Given the description of an element on the screen output the (x, y) to click on. 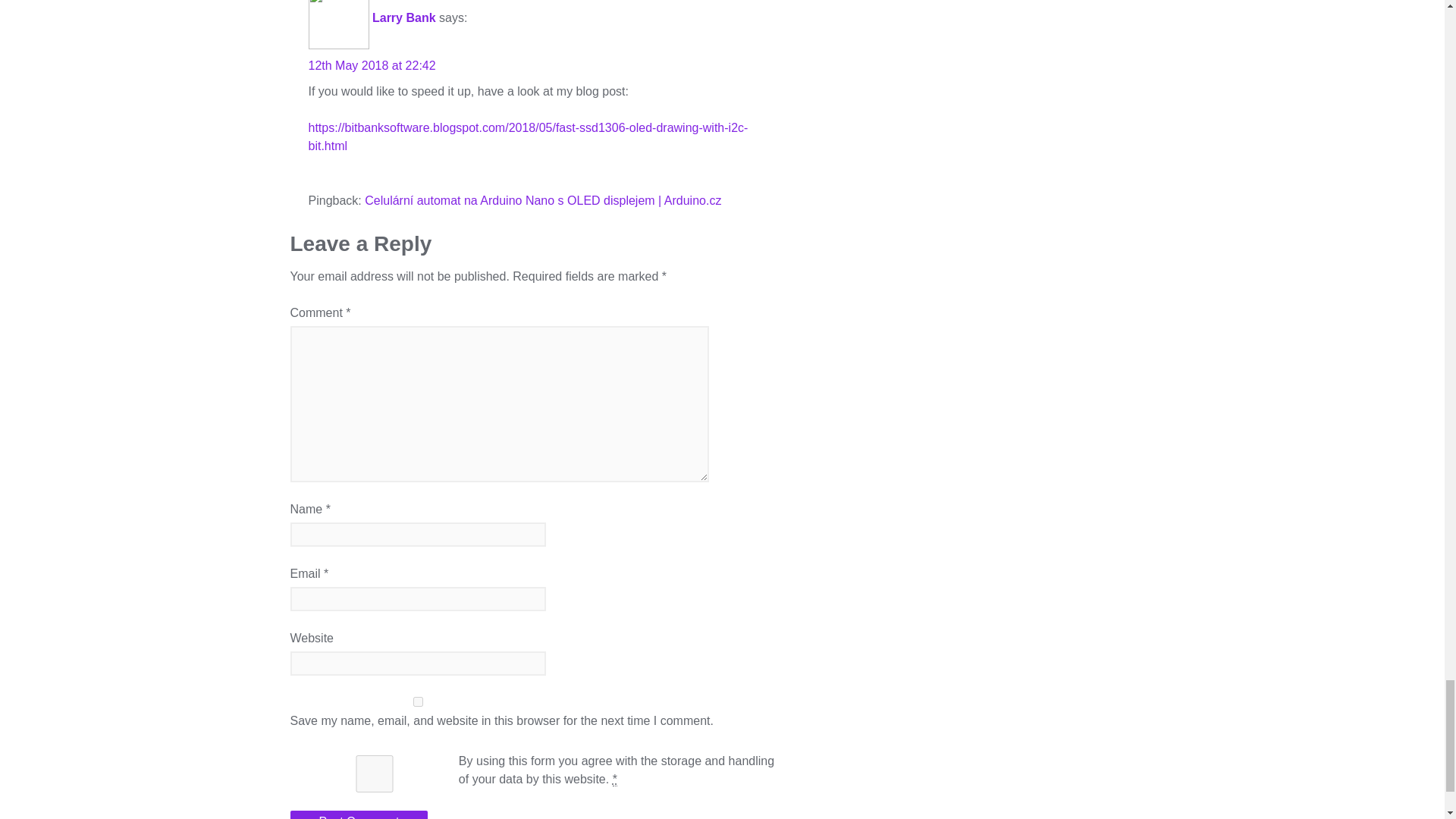
yes (417, 701)
1 (373, 773)
Post Comment (358, 814)
